Given the description of an element on the screen output the (x, y) to click on. 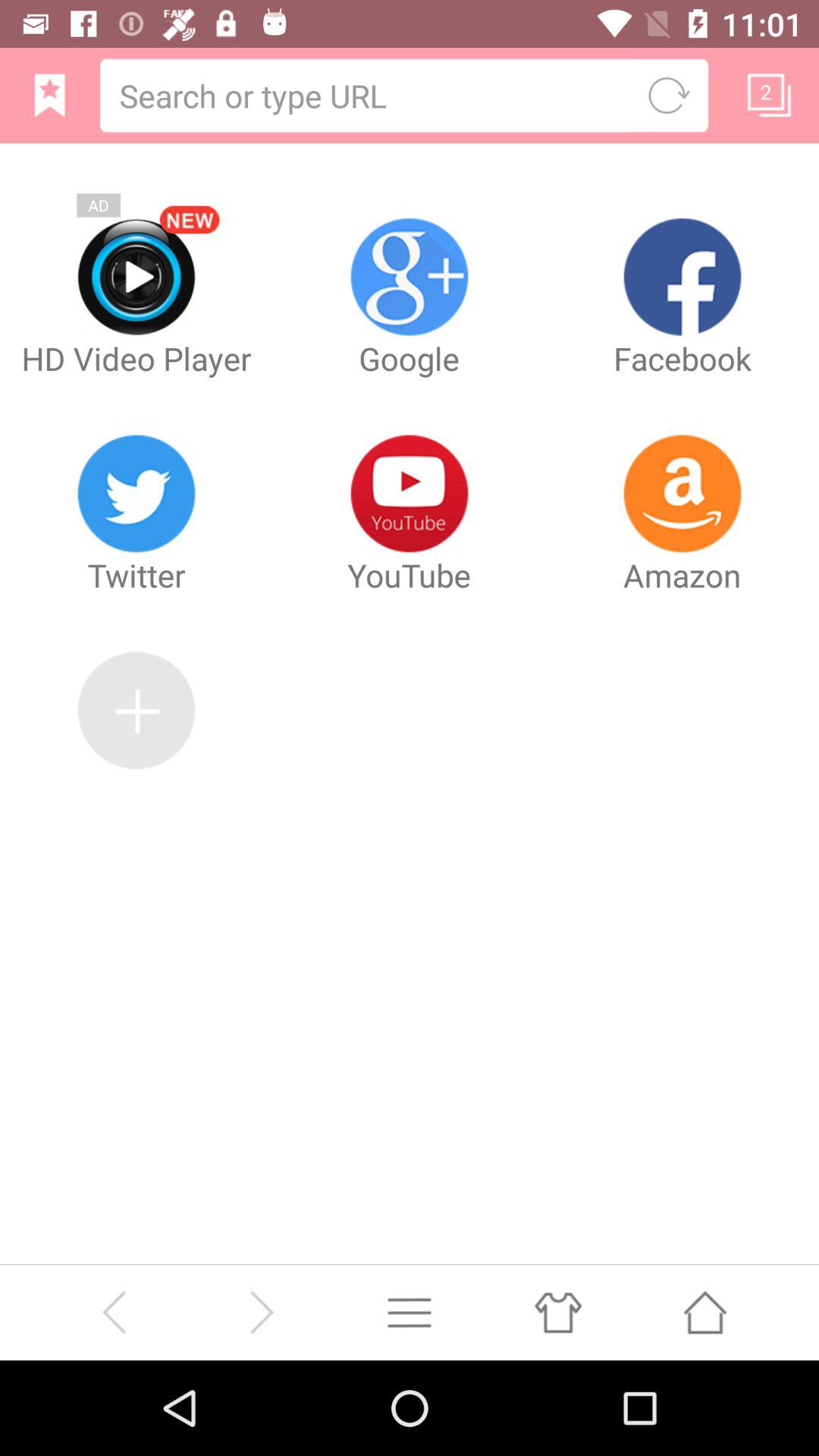
bookmark (49, 95)
